Given the description of an element on the screen output the (x, y) to click on. 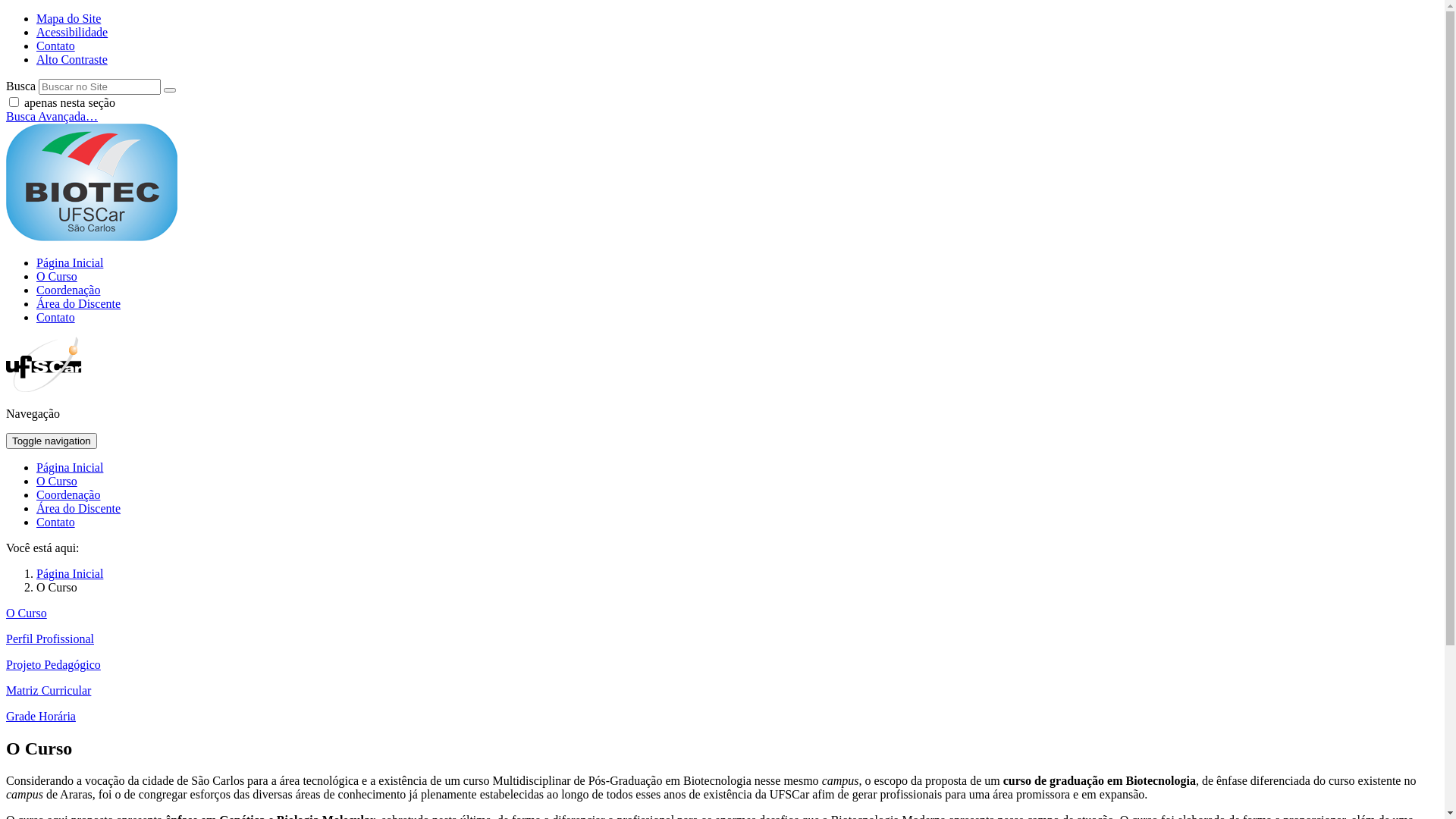
Contato Element type: text (55, 45)
Mapa do Site Element type: text (68, 18)
O Curso Element type: text (56, 480)
Acessibilidade Element type: text (71, 31)
Toggle navigation Element type: text (51, 440)
Matriz Curricular Element type: text (48, 690)
Perfil Profissional Element type: text (50, 638)
Contato Element type: text (55, 316)
O Curso Element type: text (56, 275)
Alto Contraste Element type: text (71, 59)
Bacharelado em Biotecnologia Element type: hover (91, 182)
Contato Element type: text (55, 521)
Portal UFSCar Element type: hover (43, 387)
O Curso Element type: text (26, 612)
Buscar no Site Element type: hover (99, 86)
